Given the description of an element on the screen output the (x, y) to click on. 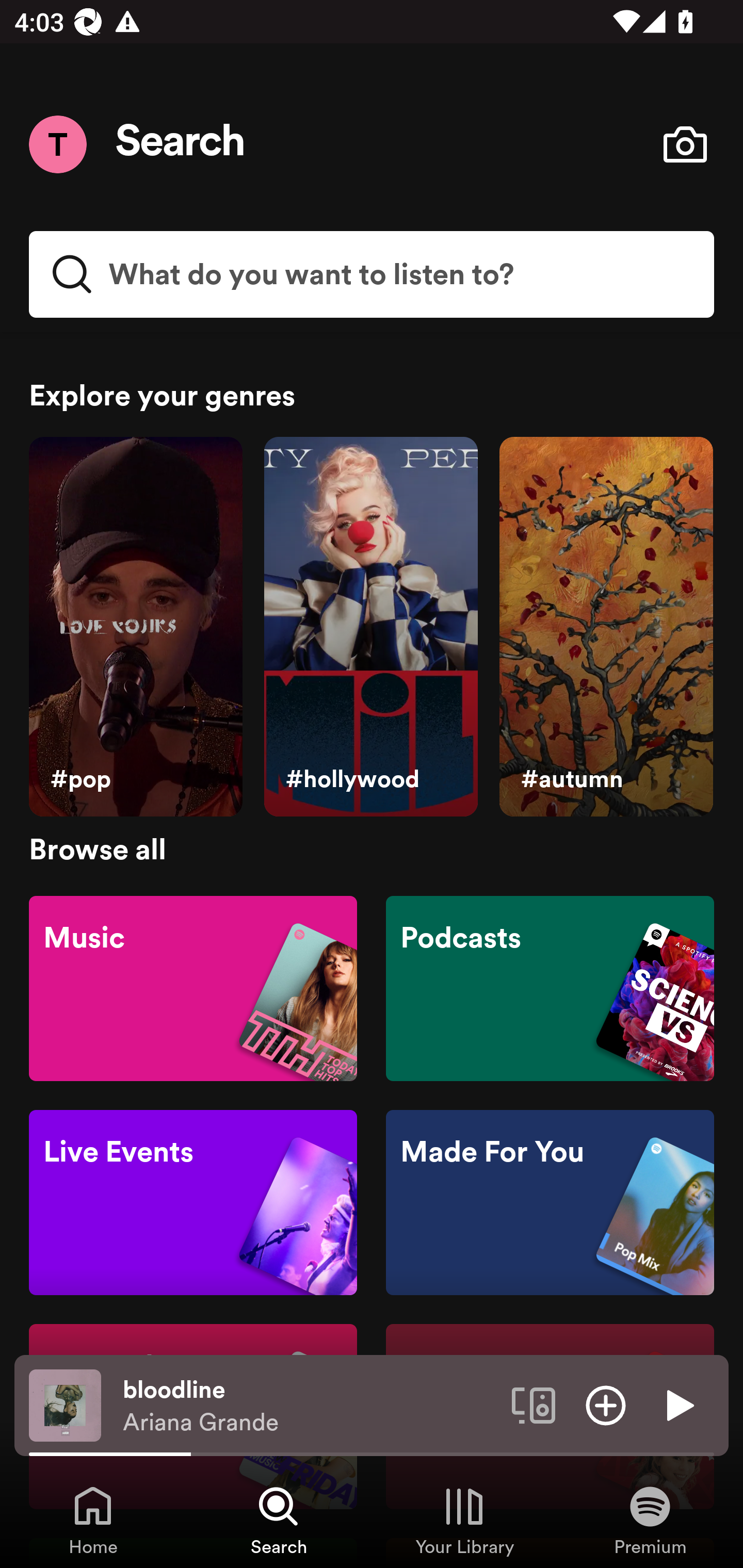
Menu (57, 144)
Open camera (685, 145)
Search (180, 144)
#pop (135, 626)
#hollywood (370, 626)
#autumn (606, 626)
Music (192, 987)
Podcasts (549, 987)
Live Events (192, 1202)
Made For You (549, 1202)
bloodline Ariana Grande (309, 1405)
The cover art of the currently playing track (64, 1404)
Connect to a device. Opens the devices menu (533, 1404)
Add item (605, 1404)
Play (677, 1404)
Home, Tab 1 of 4 Home Home (92, 1519)
Search, Tab 2 of 4 Search Search (278, 1519)
Your Library, Tab 3 of 4 Your Library Your Library (464, 1519)
Premium, Tab 4 of 4 Premium Premium (650, 1519)
